Given the description of an element on the screen output the (x, y) to click on. 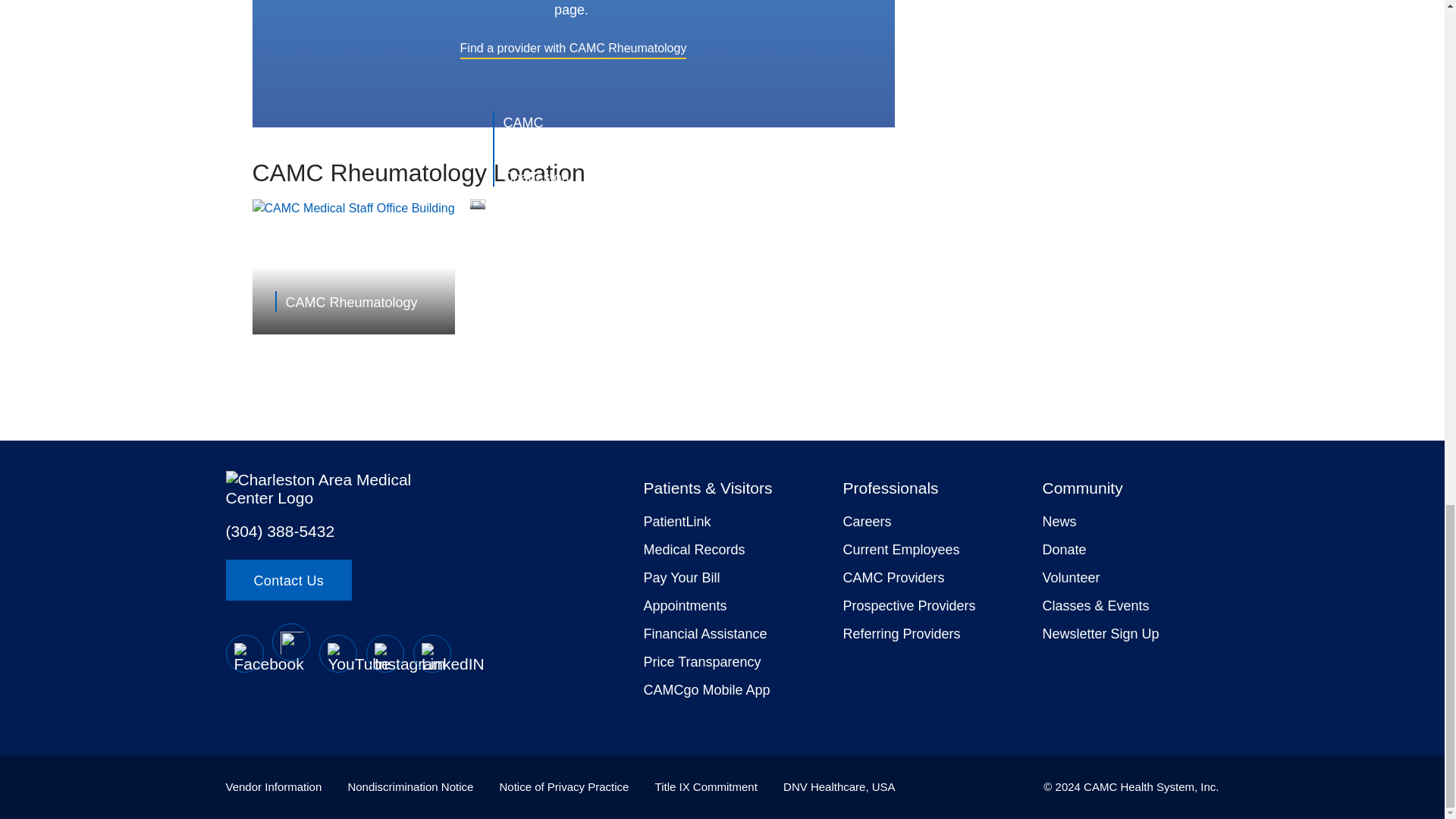
CAMC Rheumatology - South Charleston (553, 148)
Find a provider with CAMC Rheumatology (573, 47)
CAMC Rheumatology (357, 301)
